Given the description of an element on the screen output the (x, y) to click on. 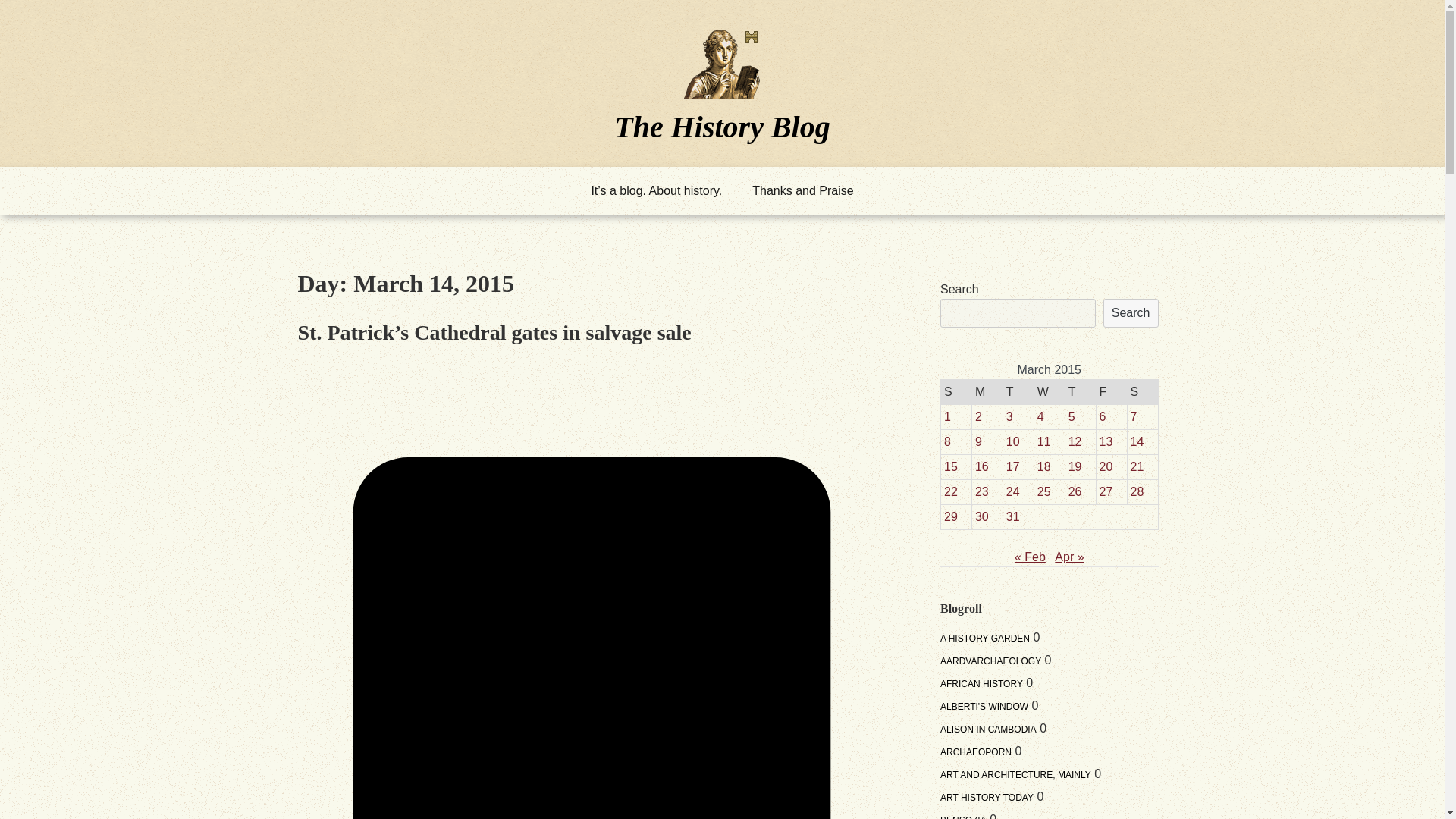
The History Blog (721, 125)
2 (978, 416)
Sunday (955, 391)
Monday (987, 391)
Search (1130, 312)
Thursday (1080, 391)
1 (946, 416)
Wednesday (1048, 391)
3 (1009, 416)
Friday (1111, 391)
Thanks and Praise (801, 191)
Saturday (1141, 391)
Tuesday (1018, 391)
4 (1039, 416)
